Given the description of an element on the screen output the (x, y) to click on. 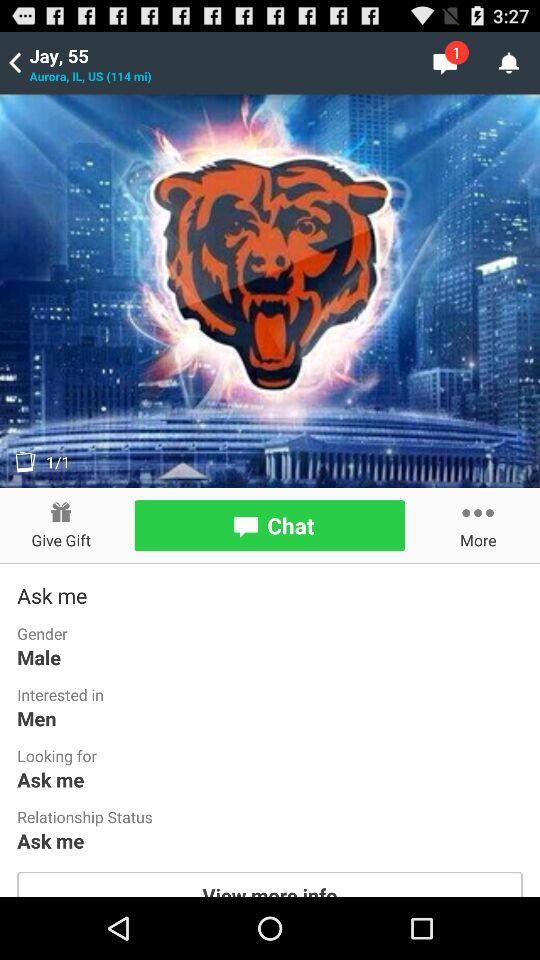
open view more info (269, 883)
